Given the description of an element on the screen output the (x, y) to click on. 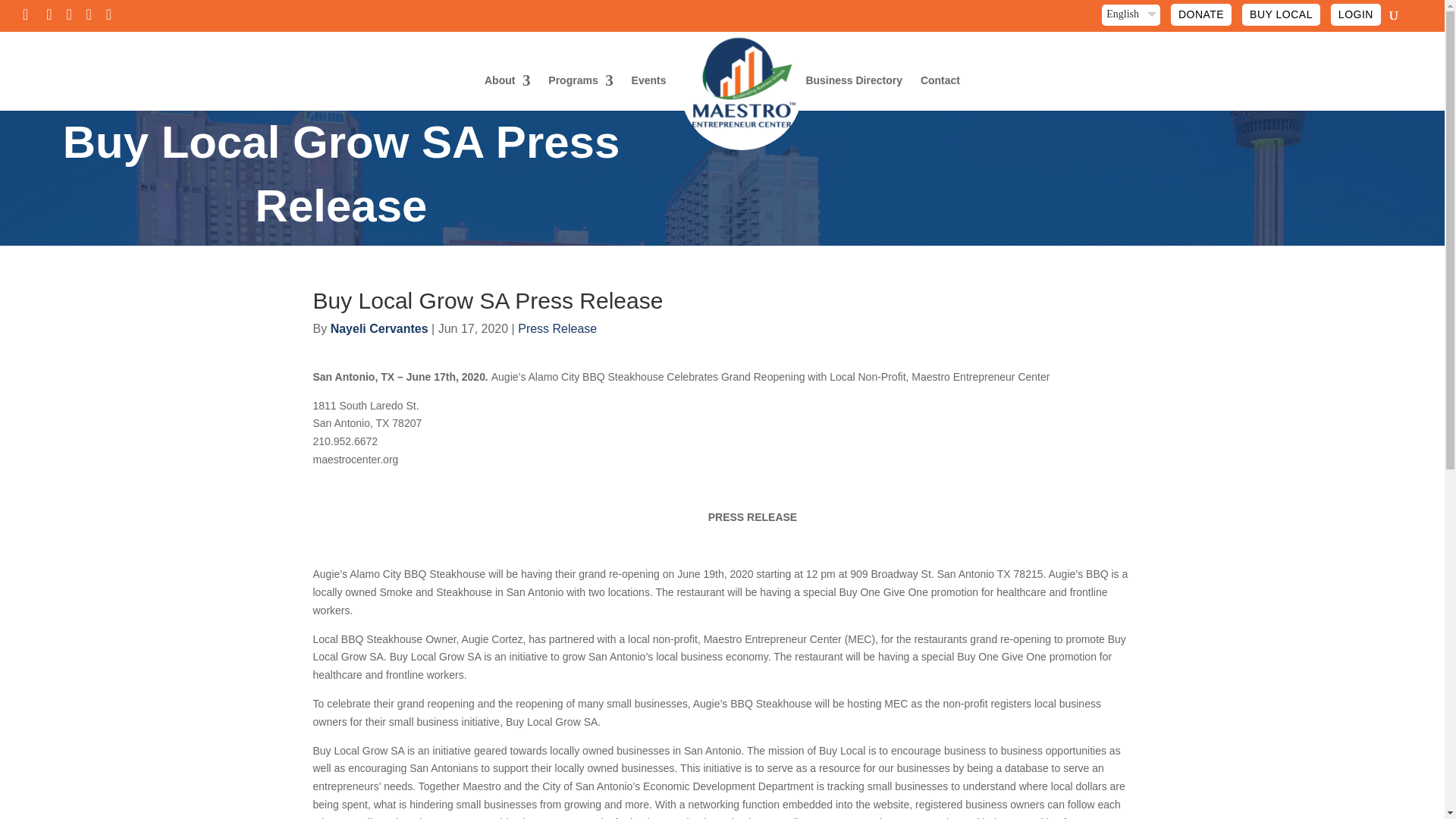
Programs (580, 92)
Contact (939, 92)
DONATE (1200, 14)
Events (648, 92)
Nayeli Cervantes (379, 328)
Business Directory (853, 92)
Press Release (557, 328)
Posts by Nayeli Cervantes (379, 328)
BUY LOCAL (1280, 14)
About (506, 92)
LOGIN (1355, 14)
